Given the description of an element on the screen output the (x, y) to click on. 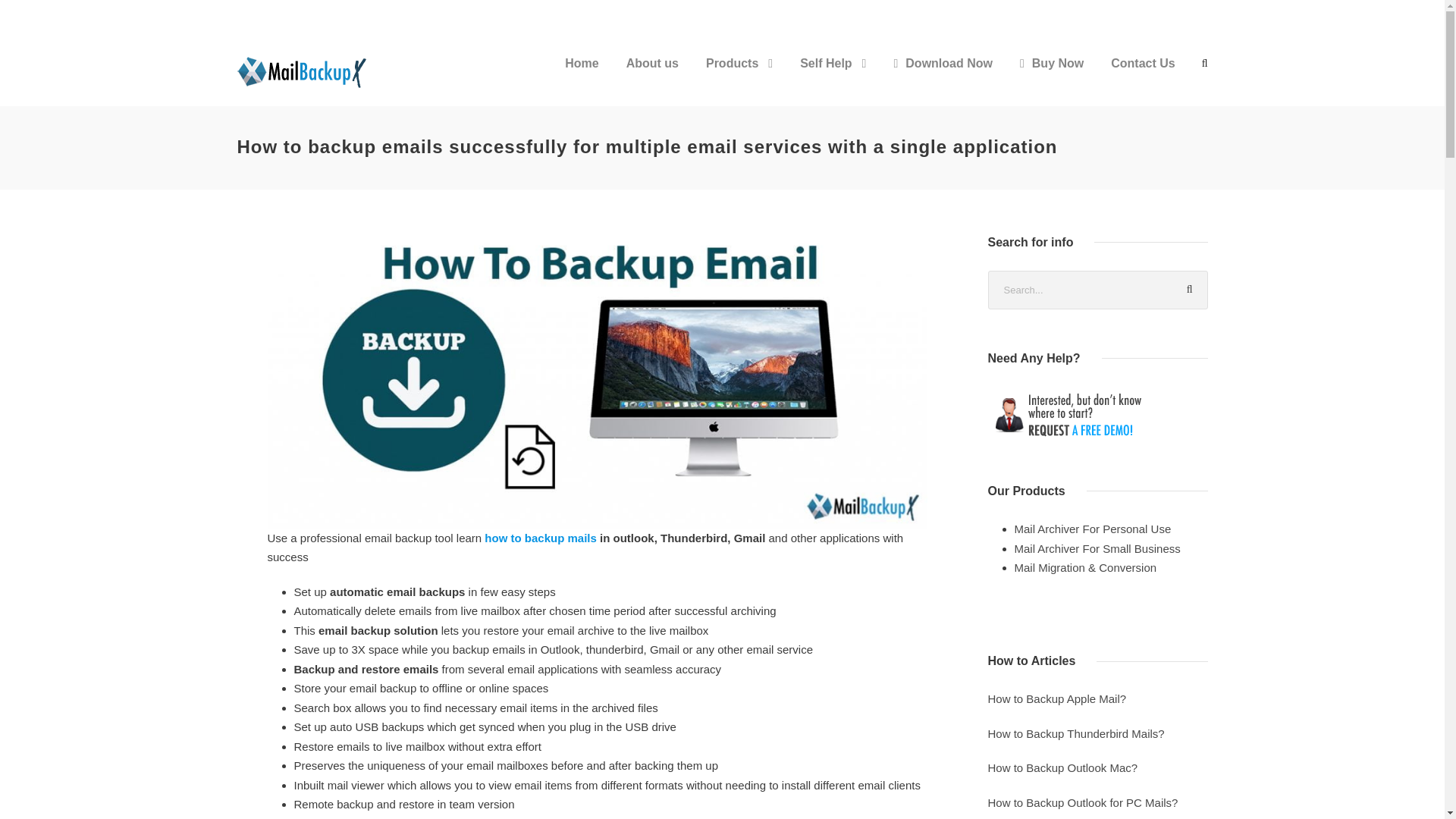
Buy Now (1051, 76)
Contact Us (1142, 76)
About us (652, 76)
mailbackupx-logo (303, 71)
Mail Archiver For Personal Use (1093, 528)
Products (739, 76)
Request a Live Demo by our Experts (1097, 414)
Mail Archiver For Small Business (1097, 548)
Download Now (942, 76)
Search (1188, 290)
Self Help (832, 76)
